Given the description of an element on the screen output the (x, y) to click on. 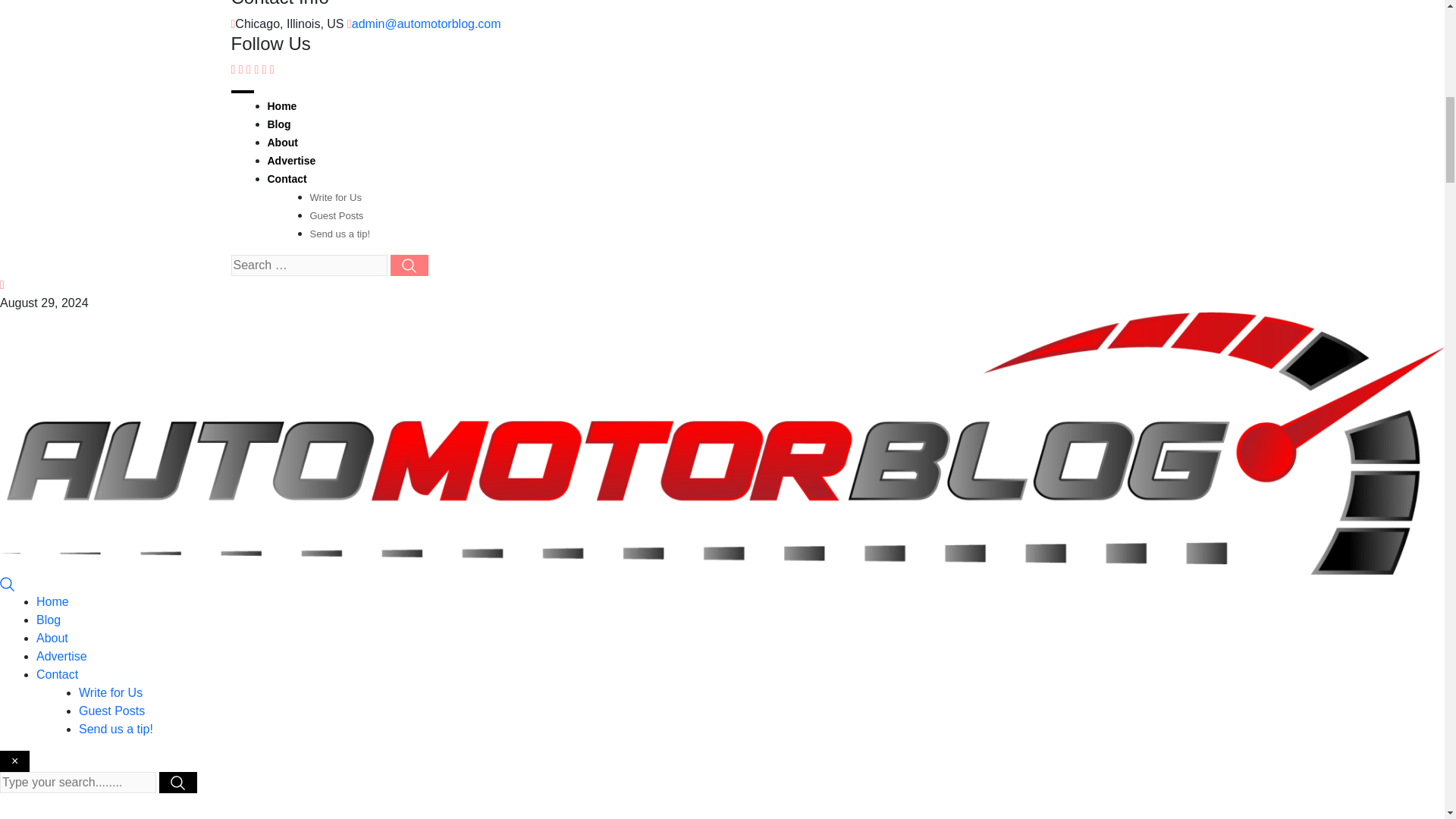
Guest Posts (335, 215)
Contact (57, 674)
Blog (277, 123)
Write for Us (334, 197)
Send us a tip! (338, 233)
About (52, 637)
Contact (285, 178)
Advertise (61, 656)
